Given the description of an element on the screen output the (x, y) to click on. 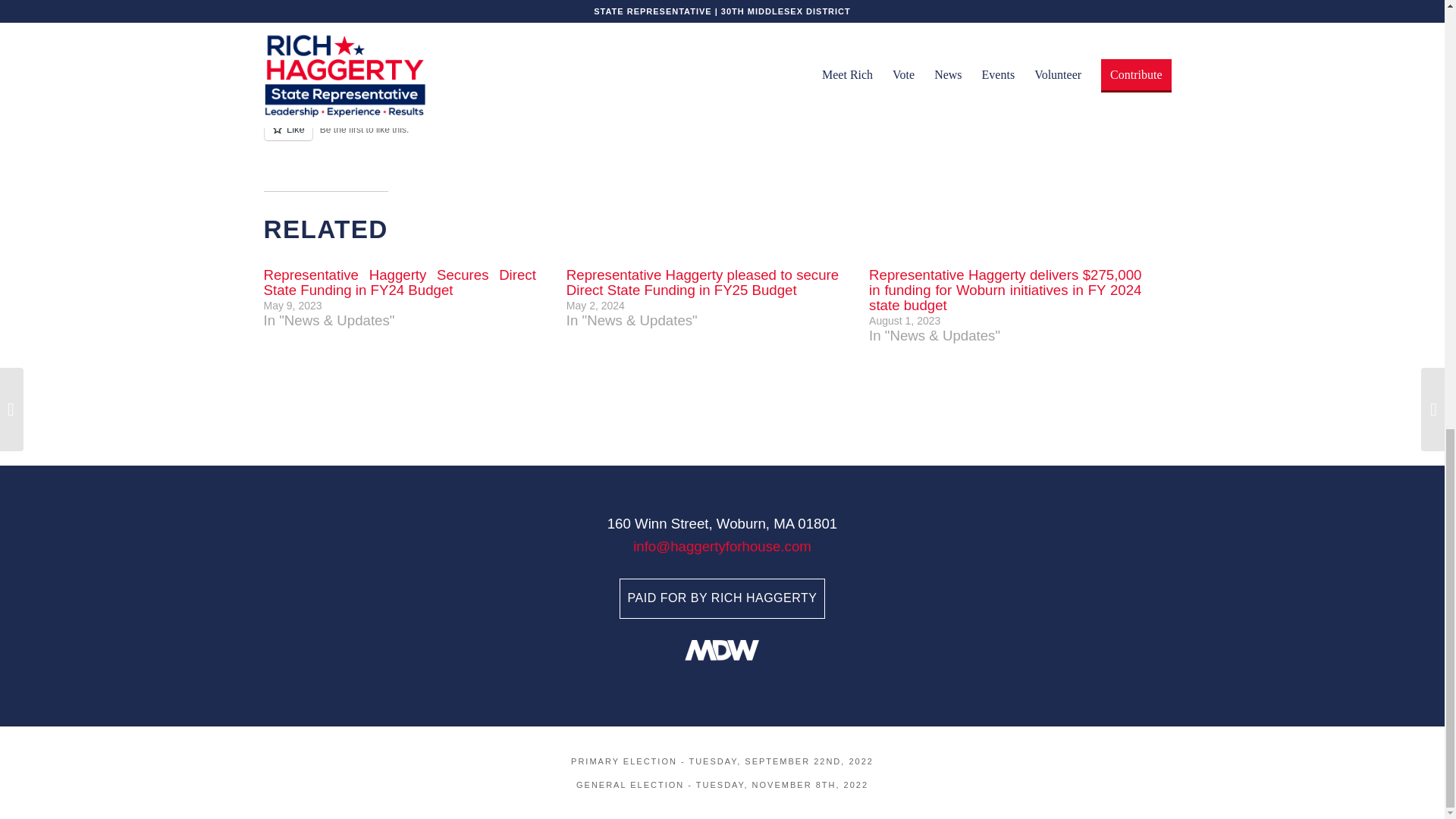
Click to share on Twitter (275, 6)
Click to share on Facebook (306, 6)
Like or Reblog (721, 137)
